Given the description of an element on the screen output the (x, y) to click on. 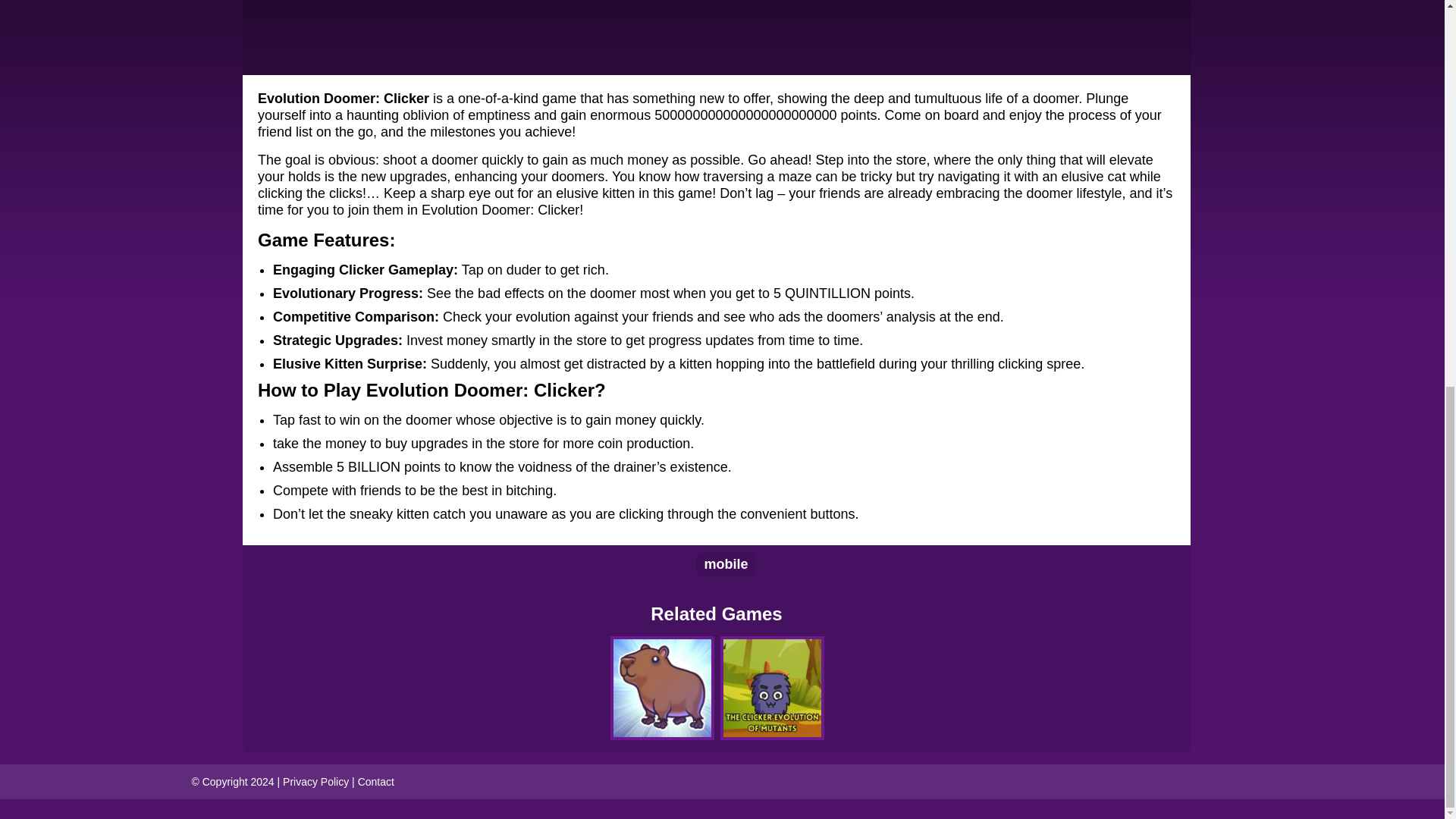
mobile (725, 563)
Contact (376, 780)
Privacy Policy (315, 780)
